Given the description of an element on the screen output the (x, y) to click on. 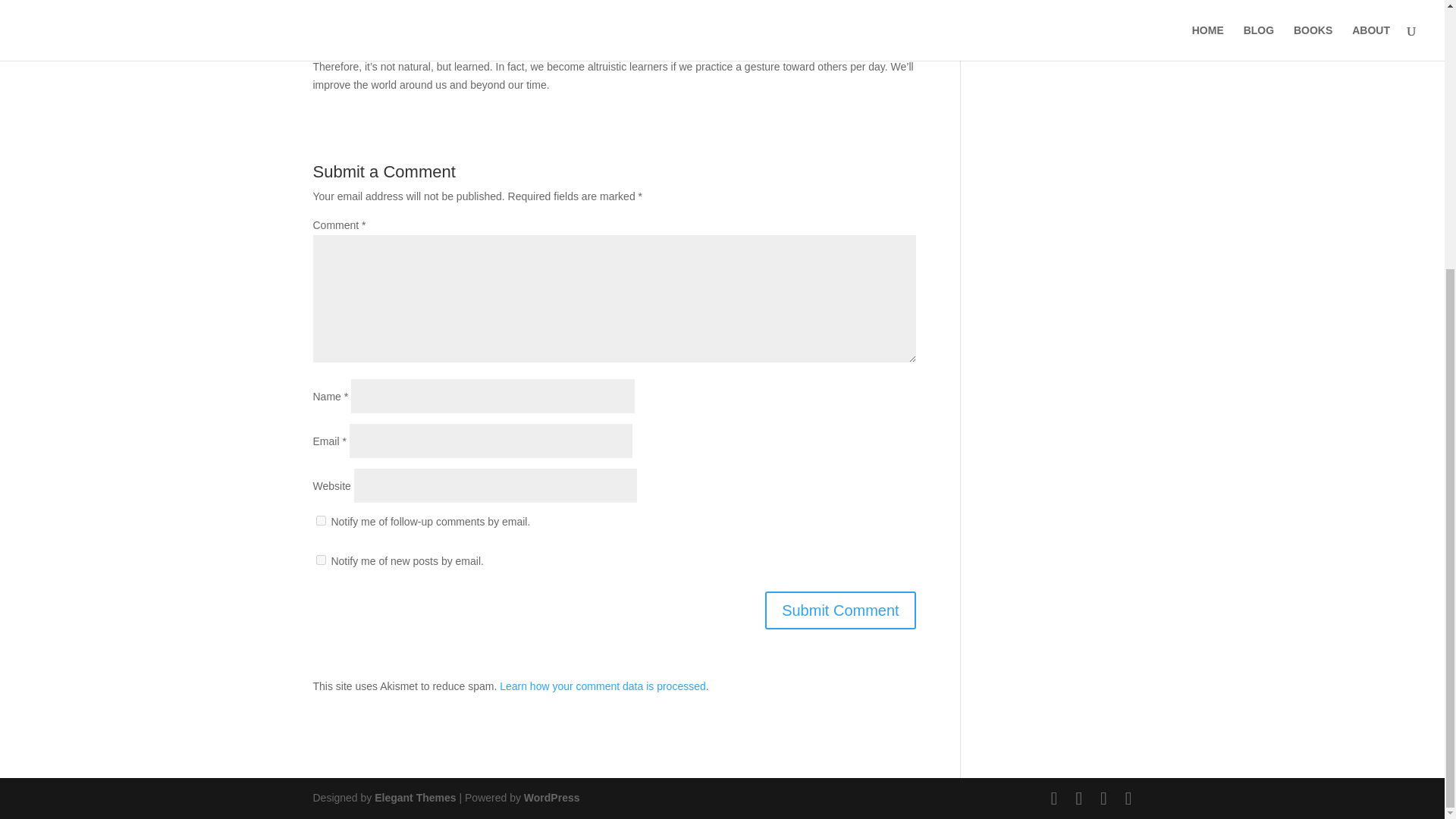
study (703, 48)
subscribe (319, 520)
Submit Comment (840, 610)
Learn how your comment data is processed (602, 686)
WordPress (551, 797)
Elegant Themes (414, 797)
Premium WordPress Themes (414, 797)
subscribe (319, 560)
Submit Comment (840, 610)
